Given the description of an element on the screen output the (x, y) to click on. 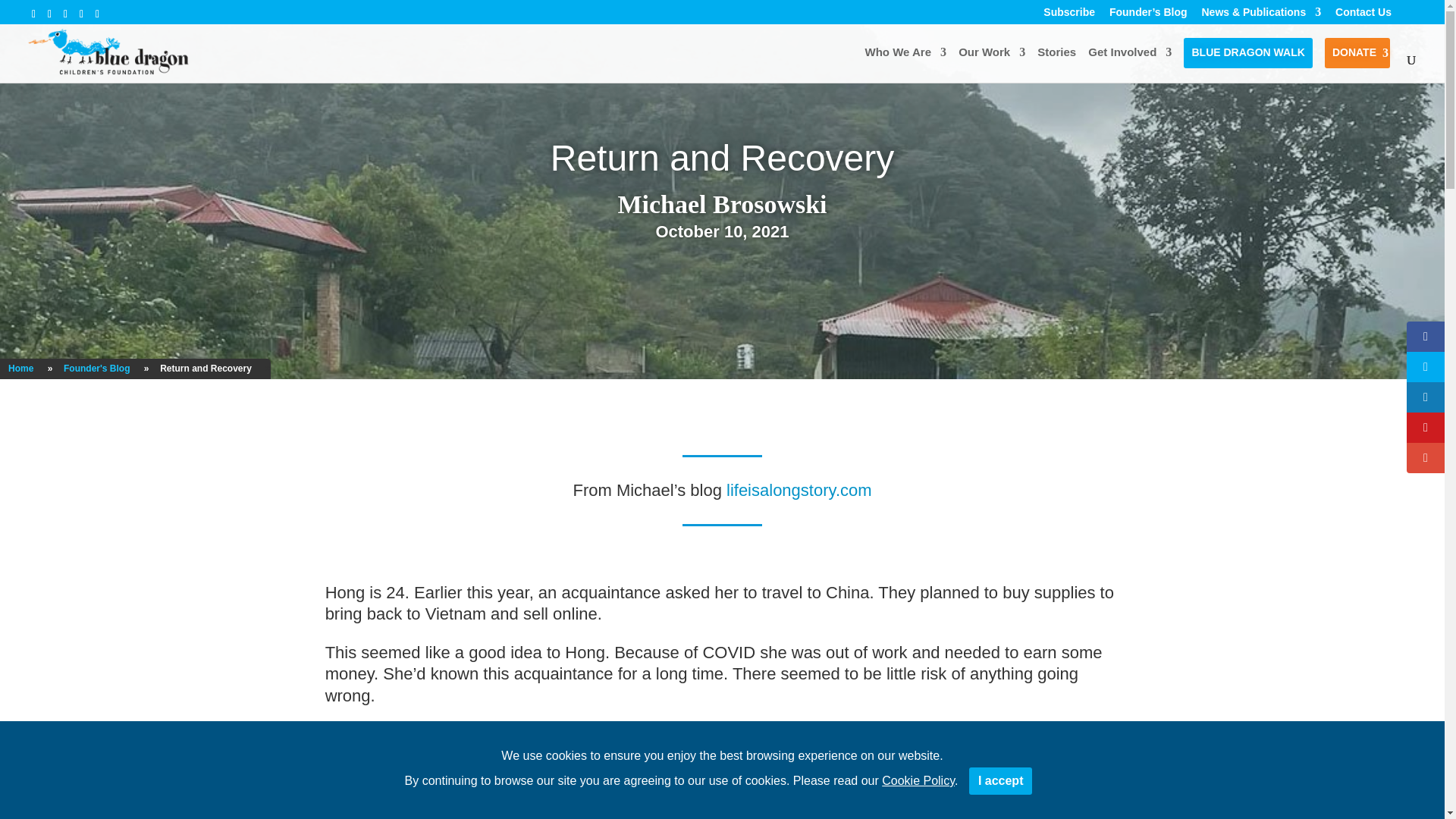
Who We Are (905, 63)
Get Involved (1129, 63)
Our Work (991, 63)
Stories (1055, 63)
Contact Us (1363, 12)
Subscribe (1068, 12)
